Given the description of an element on the screen output the (x, y) to click on. 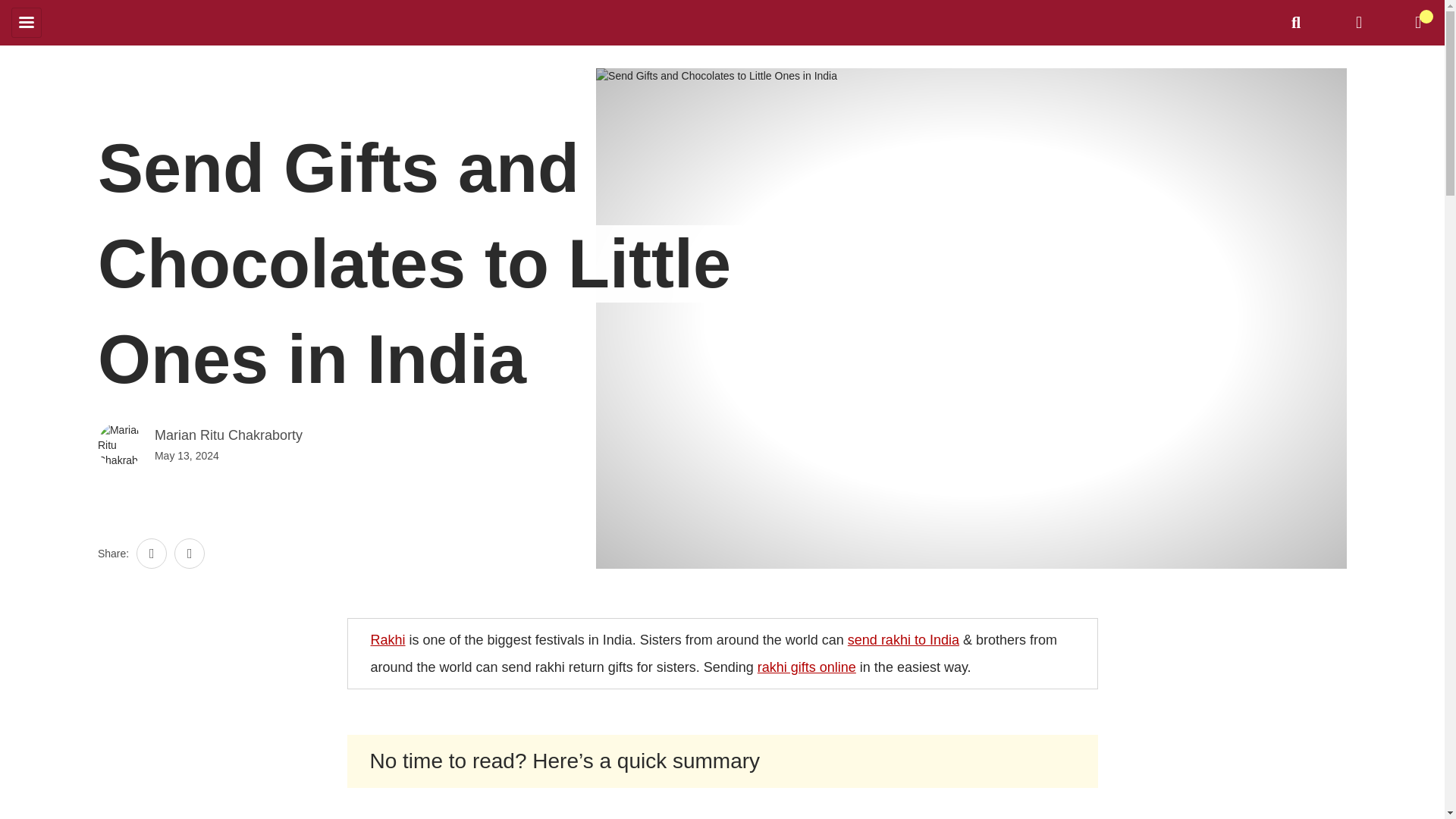
menu (26, 22)
